Given the description of an element on the screen output the (x, y) to click on. 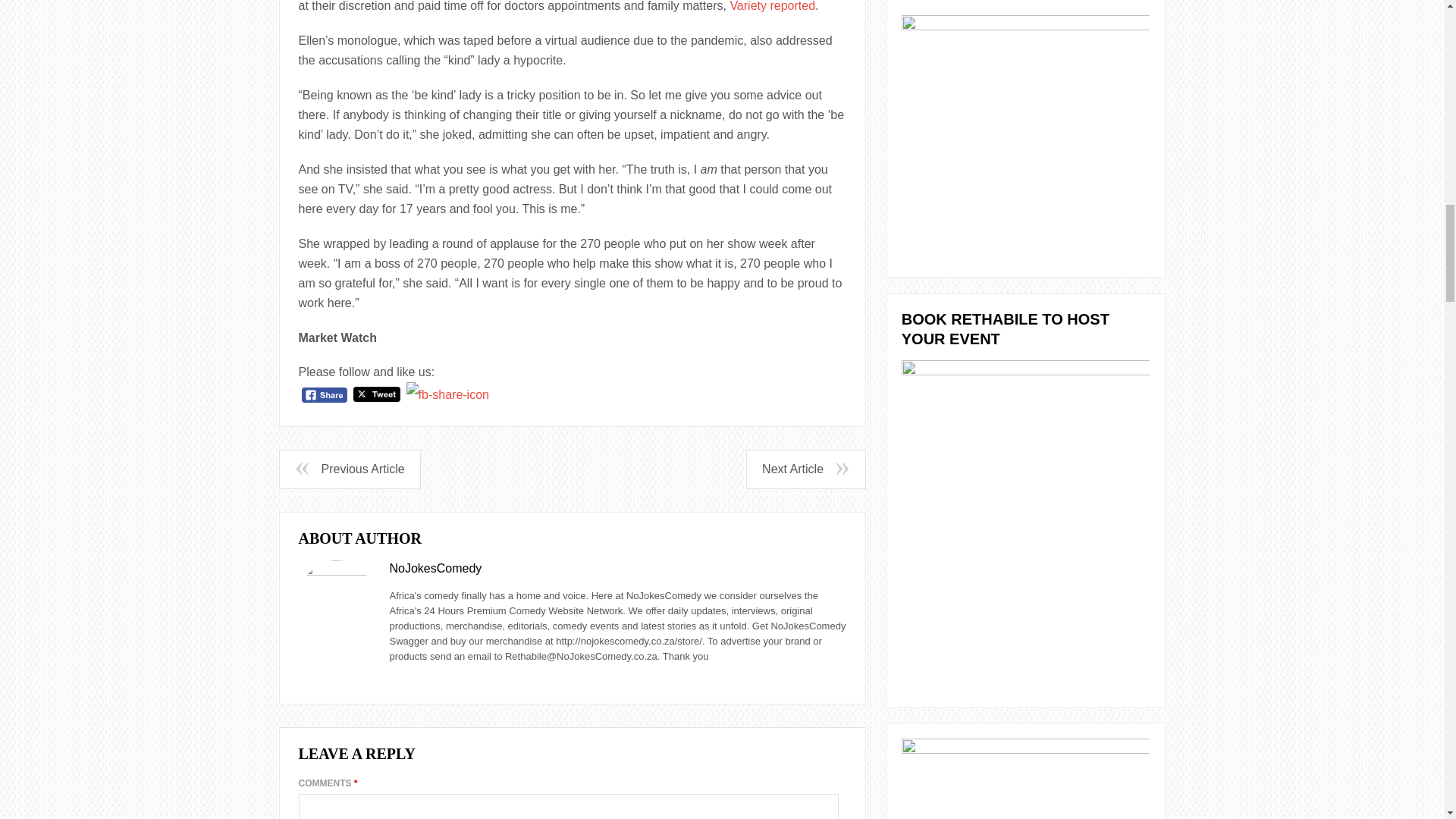
Pin Share (447, 394)
Variety reported (772, 6)
Next Article (805, 469)
Tweet (376, 394)
Facebook Share (324, 395)
Previous Article (349, 469)
